Given the description of an element on the screen output the (x, y) to click on. 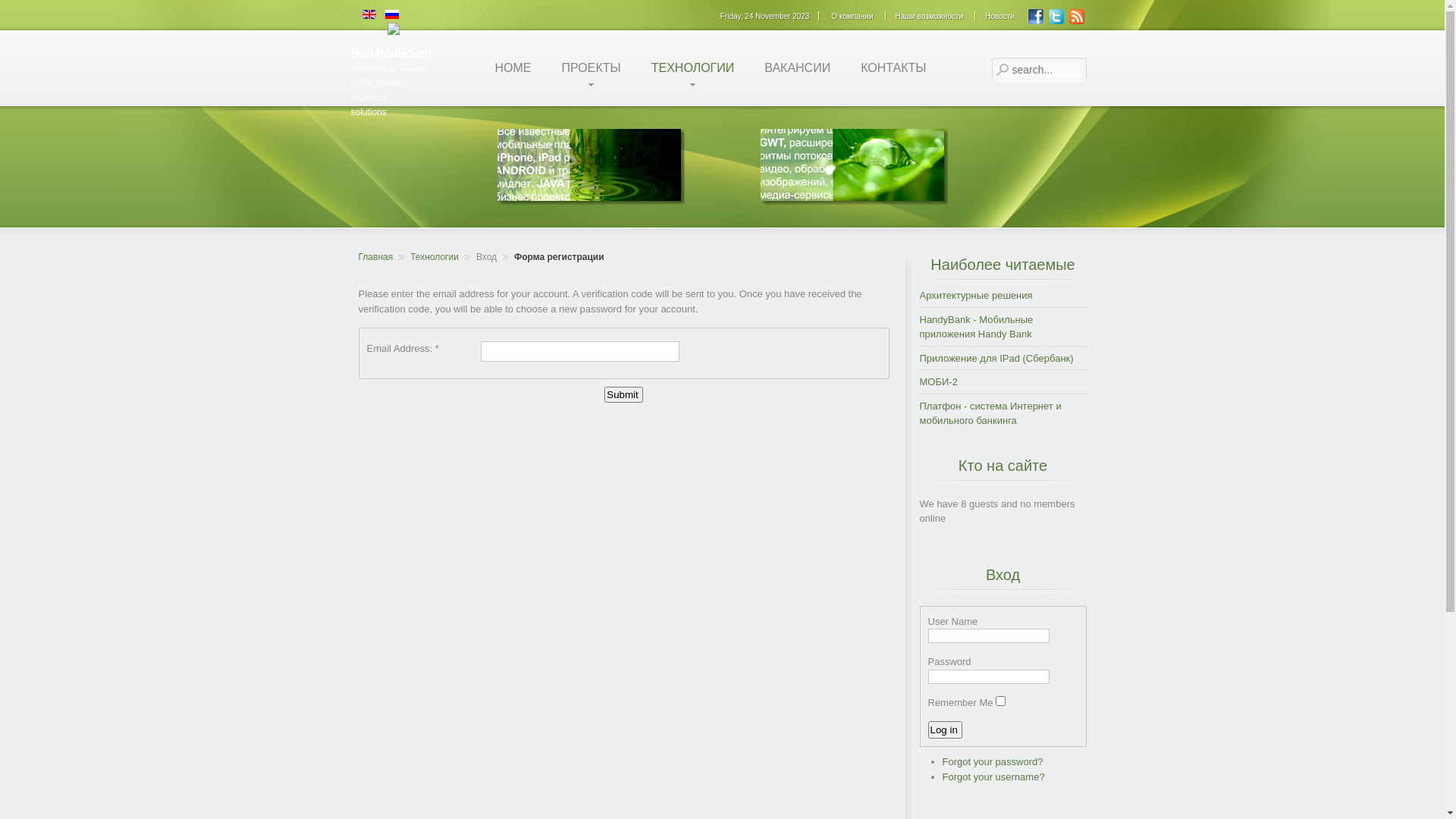
HOME Element type: text (512, 68)
Follow us on Facebook Element type: hover (1035, 22)
Follow us on Twitter Element type: hover (1056, 22)
Log in Element type: text (945, 729)
Forgot your password? Element type: text (991, 761)
English Element type: hover (369, 13)
Forgot your username? Element type: text (992, 775)
Search Element type: text (1001, 69)
Reset Element type: text (8, 12)
Submit Element type: text (623, 394)
